Given the description of an element on the screen output the (x, y) to click on. 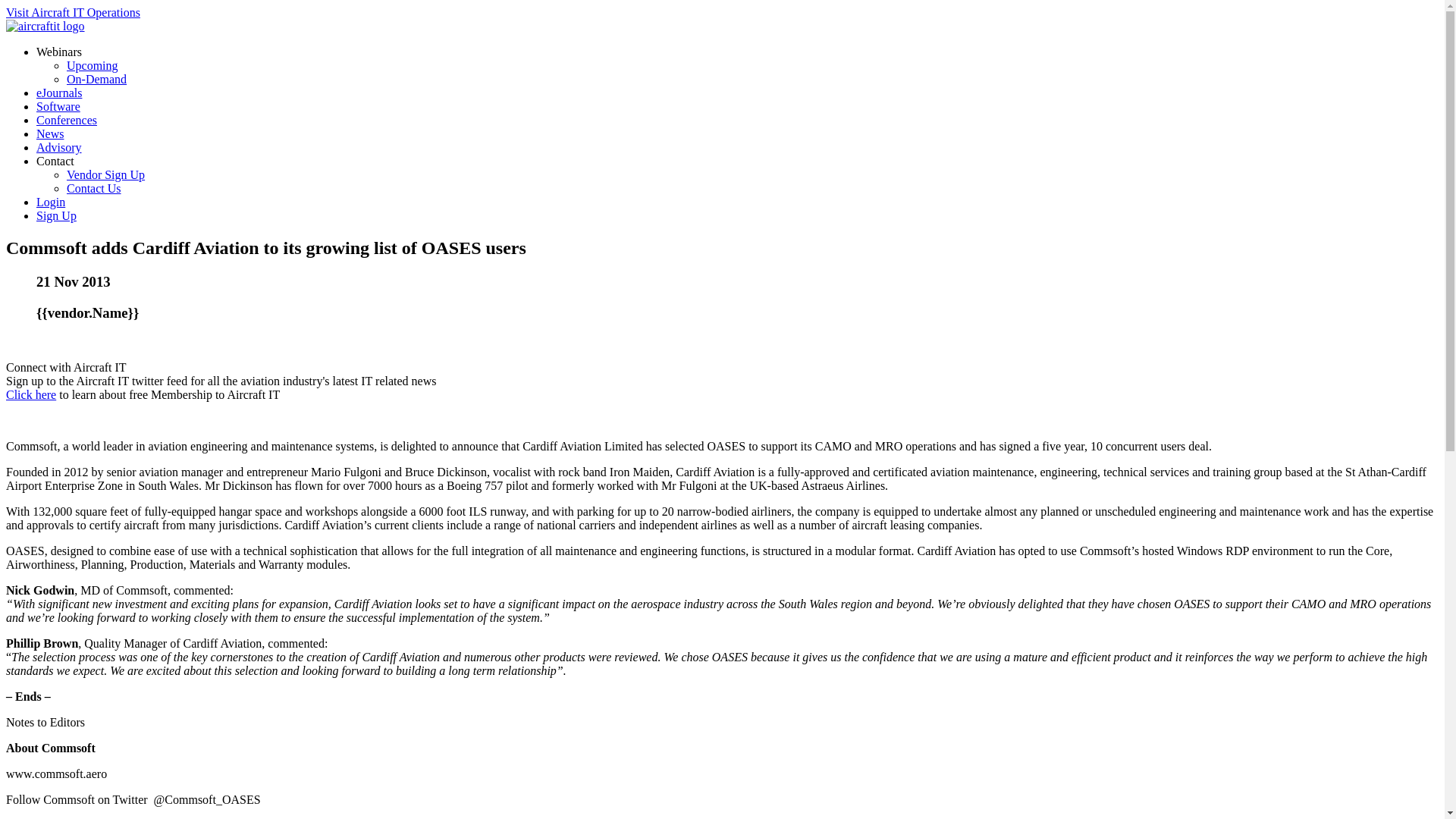
Upcoming (91, 65)
Vendor Sign Up (105, 174)
Contact (55, 160)
Software (58, 106)
Webinars (58, 51)
Advisory (58, 146)
News (50, 133)
www.commsoft.aero (55, 773)
On-Demand (96, 78)
Contact Us (93, 187)
Click here (30, 394)
Visit Aircraft IT Operations (72, 11)
eJournals (58, 92)
Login (50, 201)
Conferences (66, 119)
